Given the description of an element on the screen output the (x, y) to click on. 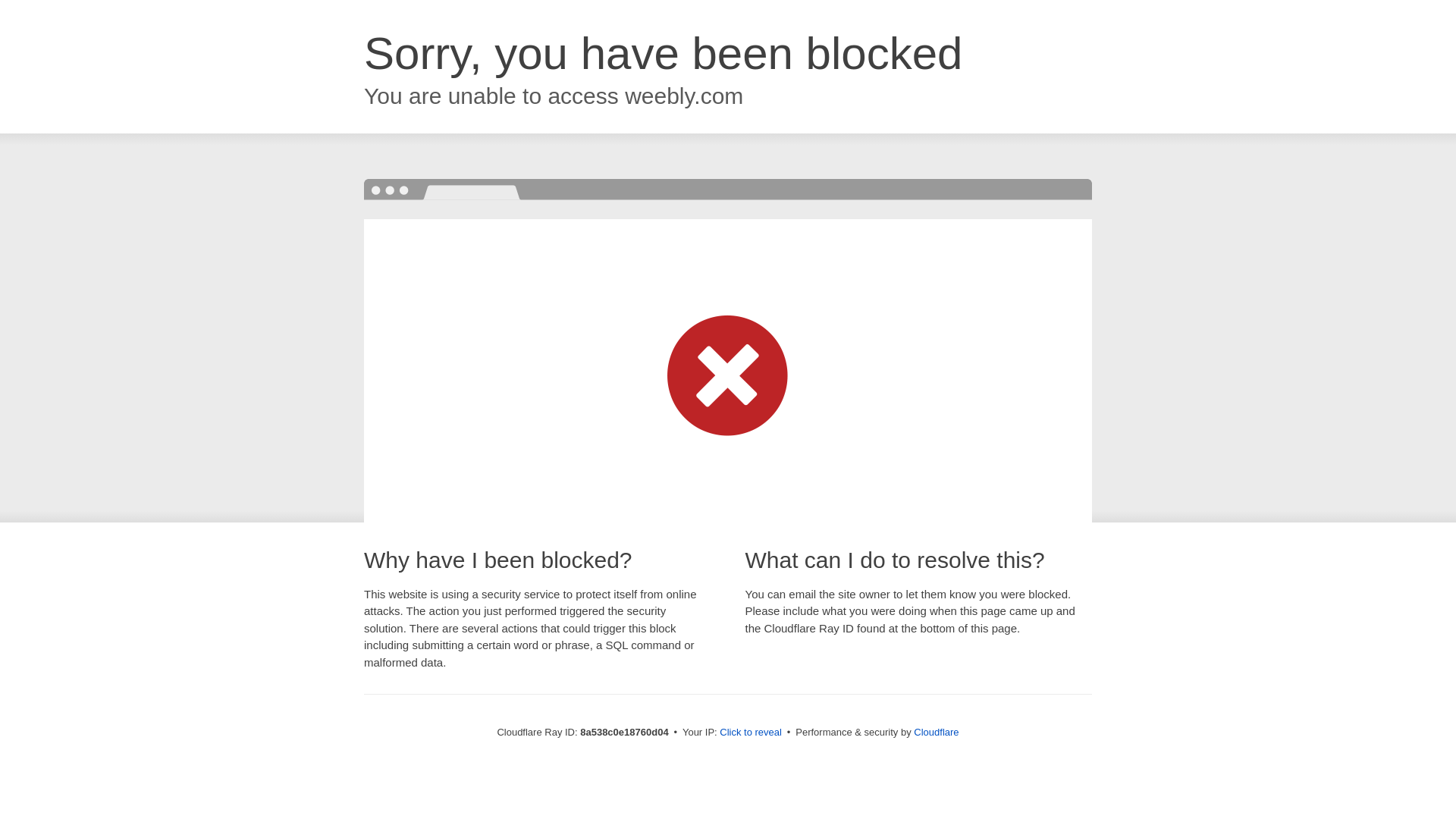
Cloudflare (936, 731)
Click to reveal (750, 732)
